Given the description of an element on the screen output the (x, y) to click on. 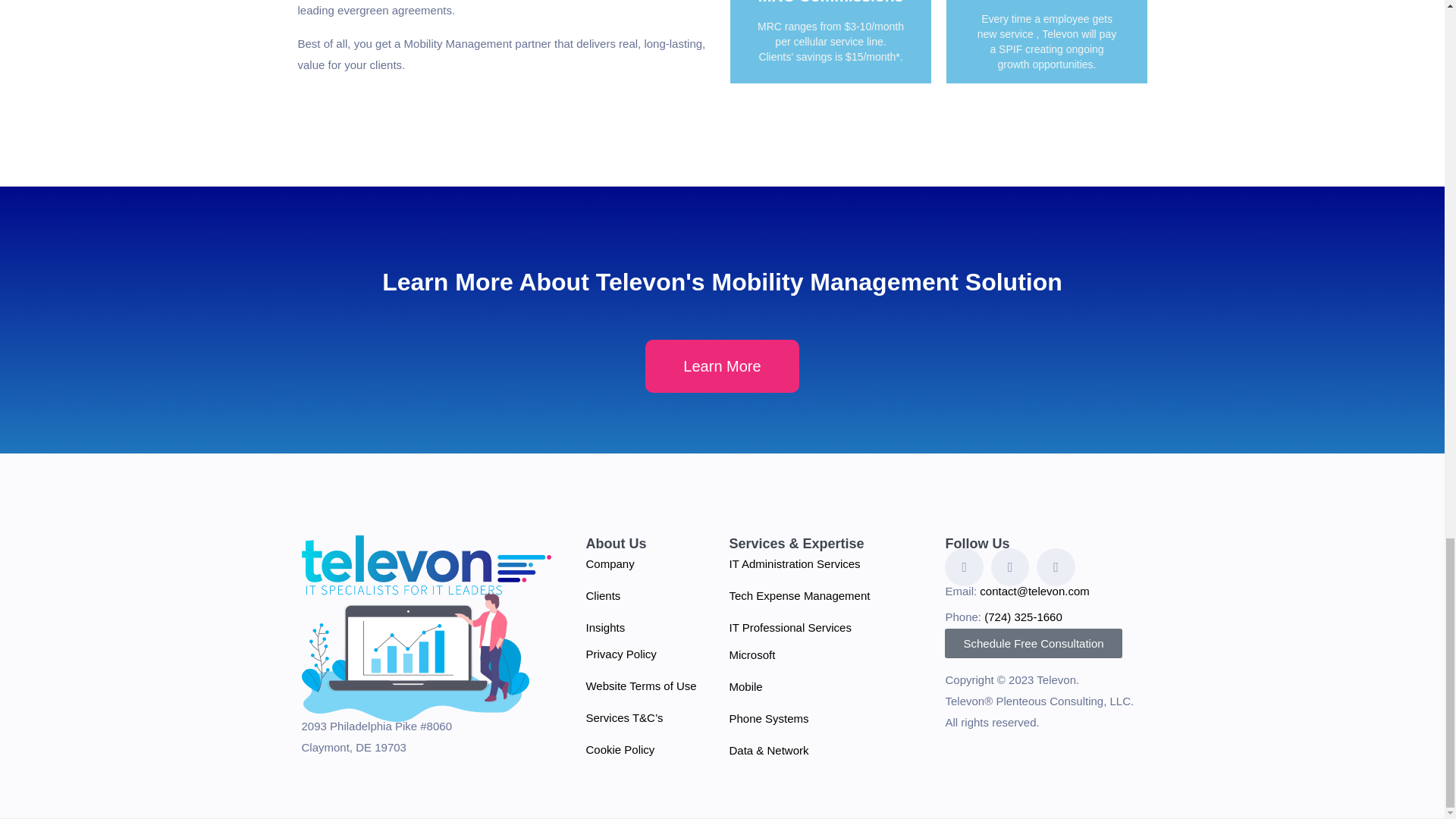
Microsoft (751, 654)
Clients (602, 594)
Tech Expense Management (799, 594)
Cookie Policy (619, 748)
Website Terms of Use (640, 685)
IT Administration Services (794, 563)
Coming Soon (838, 31)
Insights (604, 626)
Phone Systems (768, 717)
Coming Soon (1055, 25)
IT Professional Services (789, 626)
Learn More (721, 366)
Company (609, 563)
Mobile (745, 686)
Privacy Policy (620, 653)
